Given the description of an element on the screen output the (x, y) to click on. 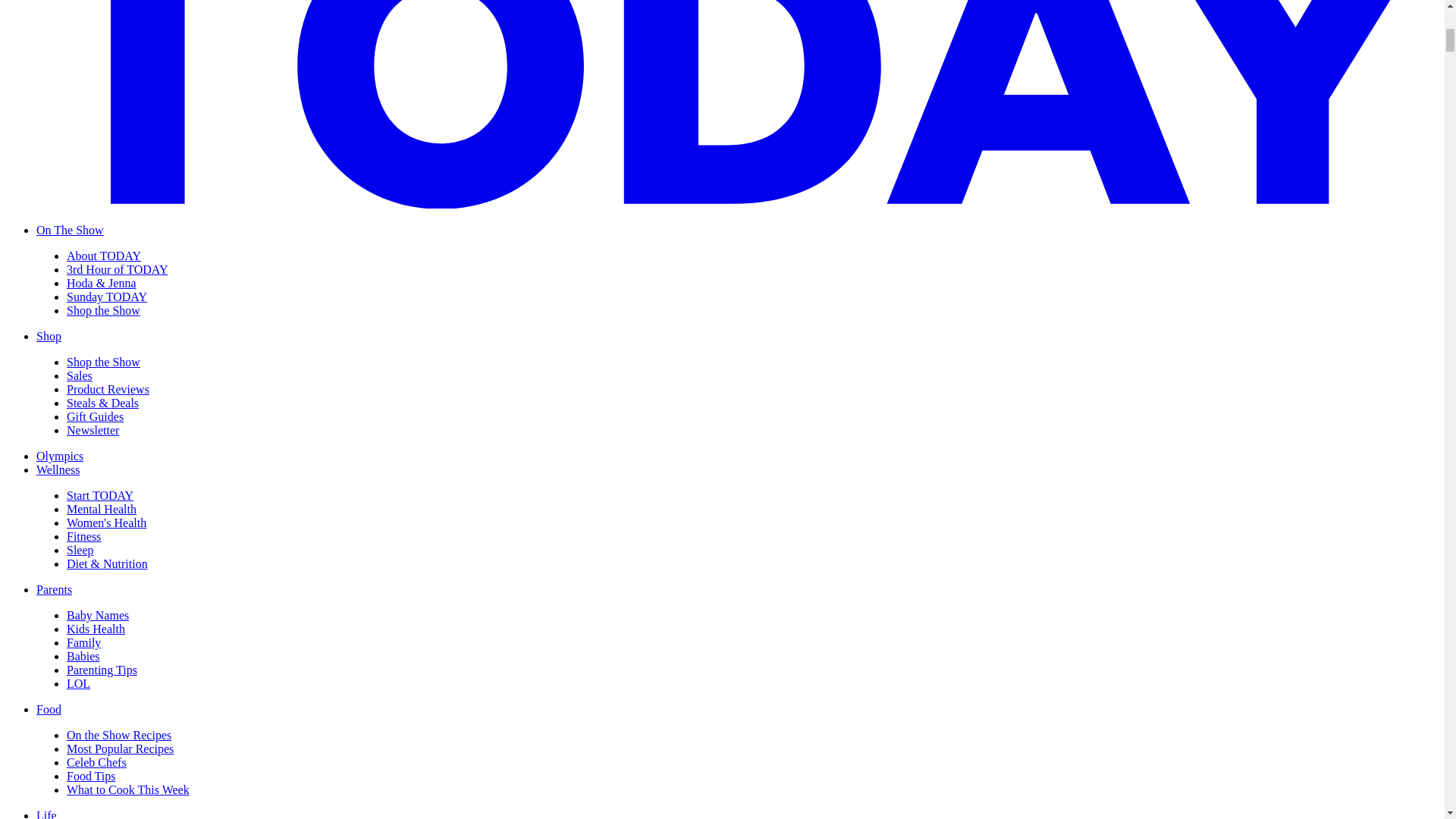
Life (46, 814)
On The Show (69, 229)
Food Tips (91, 775)
Sales (79, 375)
Sleep (80, 549)
Babies (83, 656)
Mental Health (101, 508)
Parenting Tips (101, 669)
On the Show Recipes (118, 735)
Family (83, 642)
Kids Health (95, 628)
LOL (78, 683)
Olympics (59, 455)
Product Reviews (107, 389)
Start TODAY (99, 495)
